Given the description of an element on the screen output the (x, y) to click on. 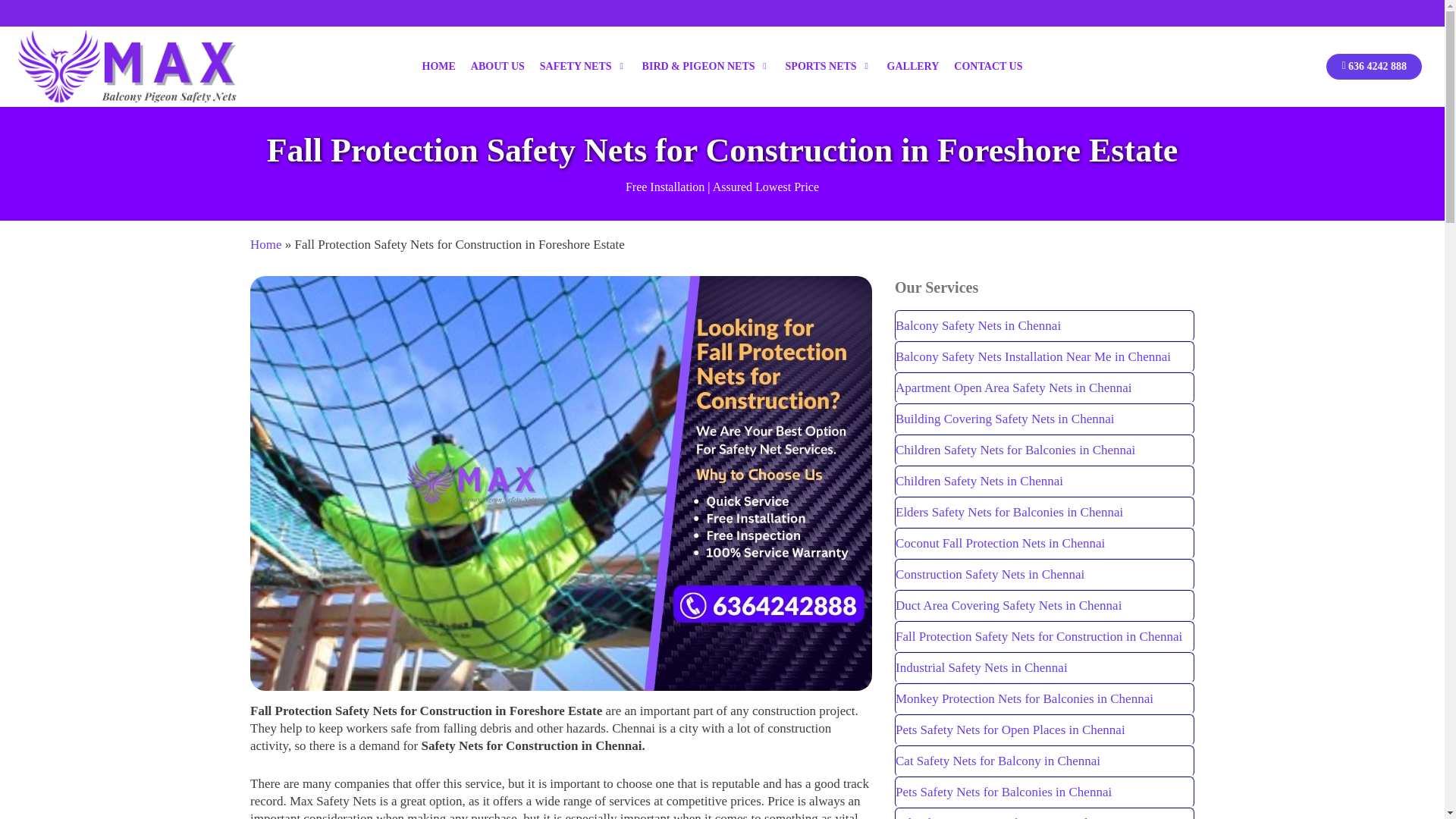
HOME (438, 66)
ABOUT US (497, 66)
SAFETY NETS (583, 66)
